Given the description of an element on the screen output the (x, y) to click on. 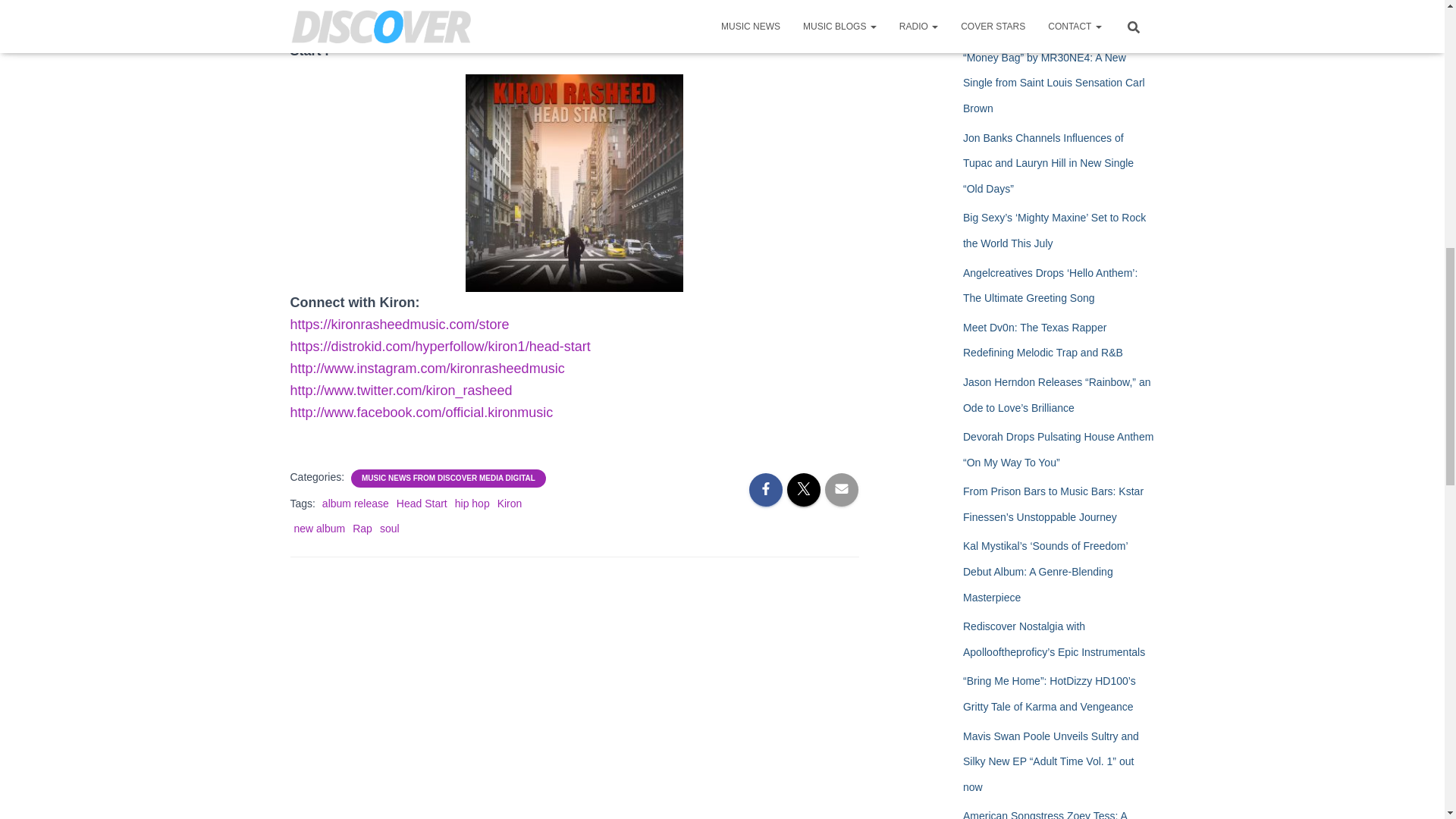
new album (320, 528)
Head Start (421, 503)
MUSIC NEWS FROM DISCOVER MEDIA DIGITAL (448, 478)
hip hop (471, 503)
Kiron (509, 503)
album release (354, 503)
